Given the description of an element on the screen output the (x, y) to click on. 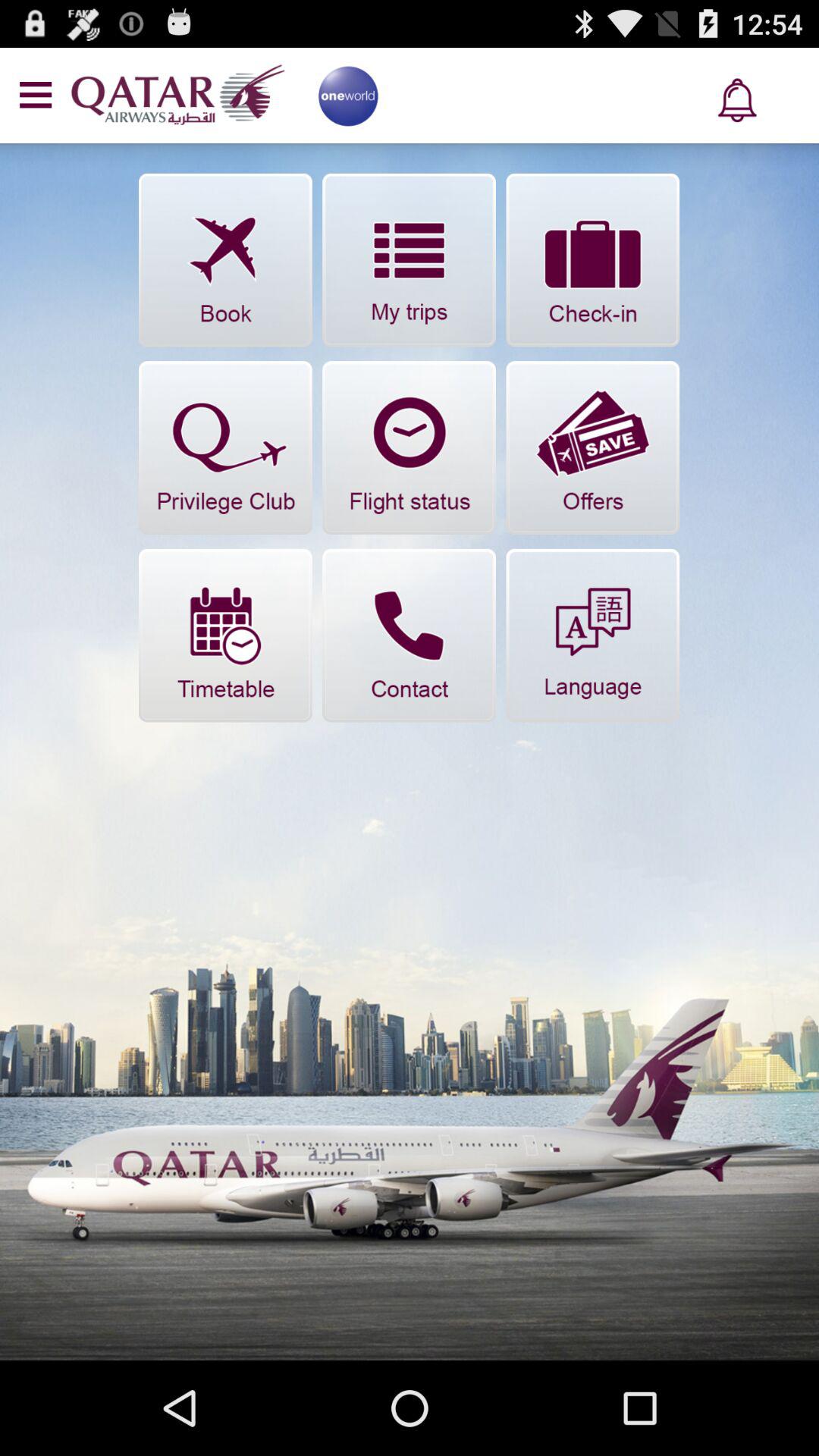
go to flights made (408, 259)
